Given the description of an element on the screen output the (x, y) to click on. 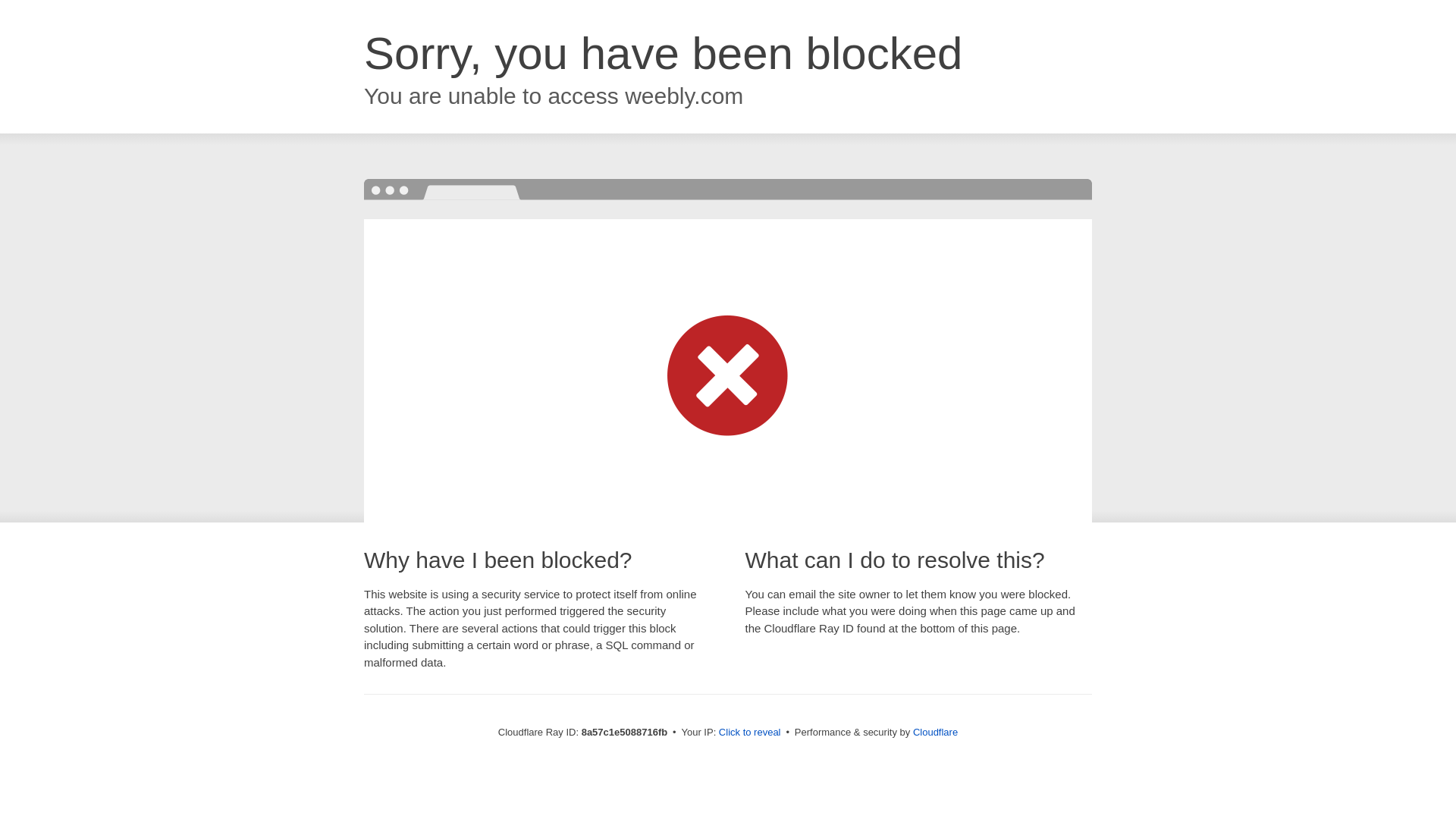
Cloudflare (935, 731)
Click to reveal (749, 732)
